Given the description of an element on the screen output the (x, y) to click on. 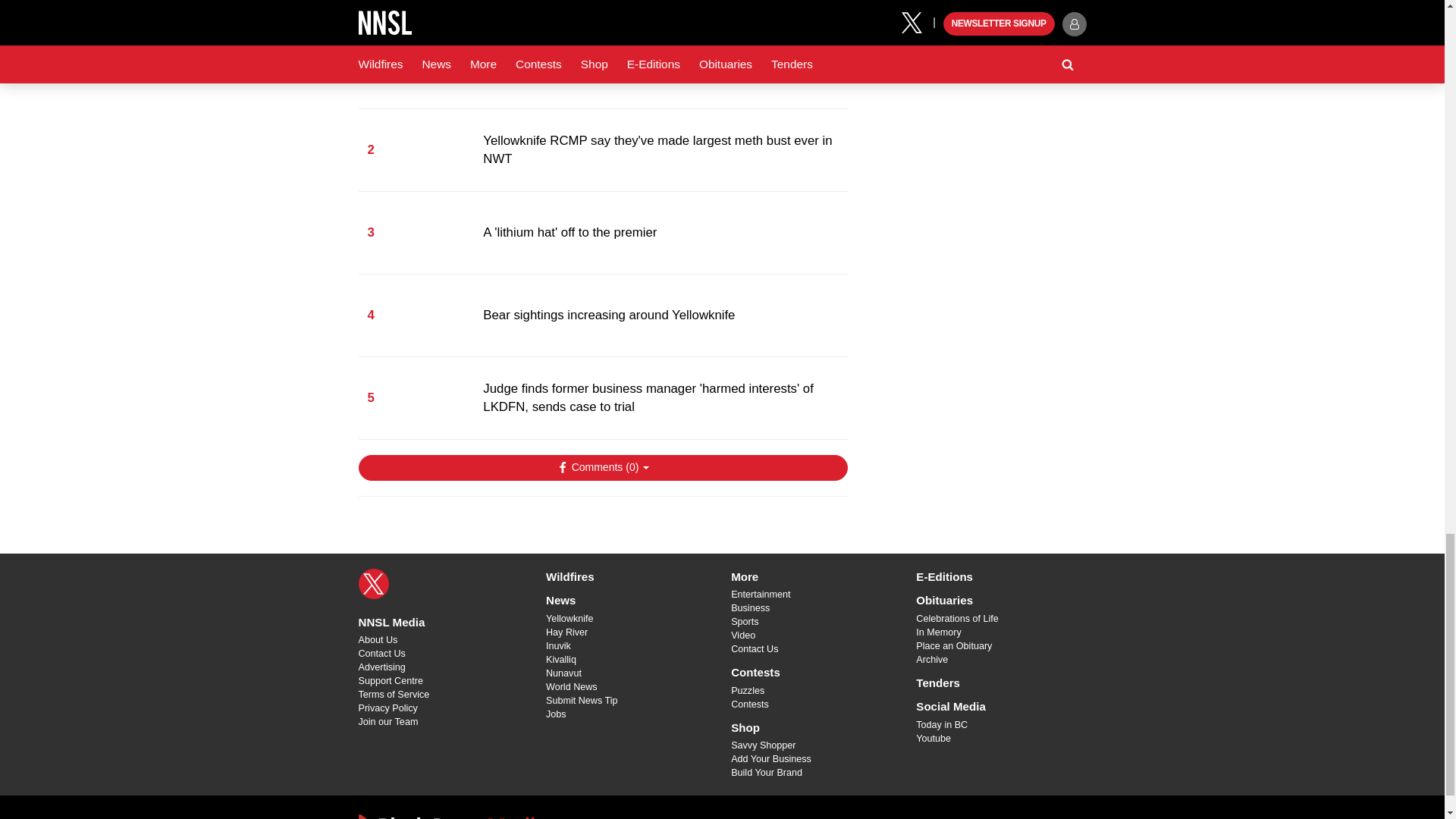
X (373, 583)
Show Comments (602, 467)
